Given the description of an element on the screen output the (x, y) to click on. 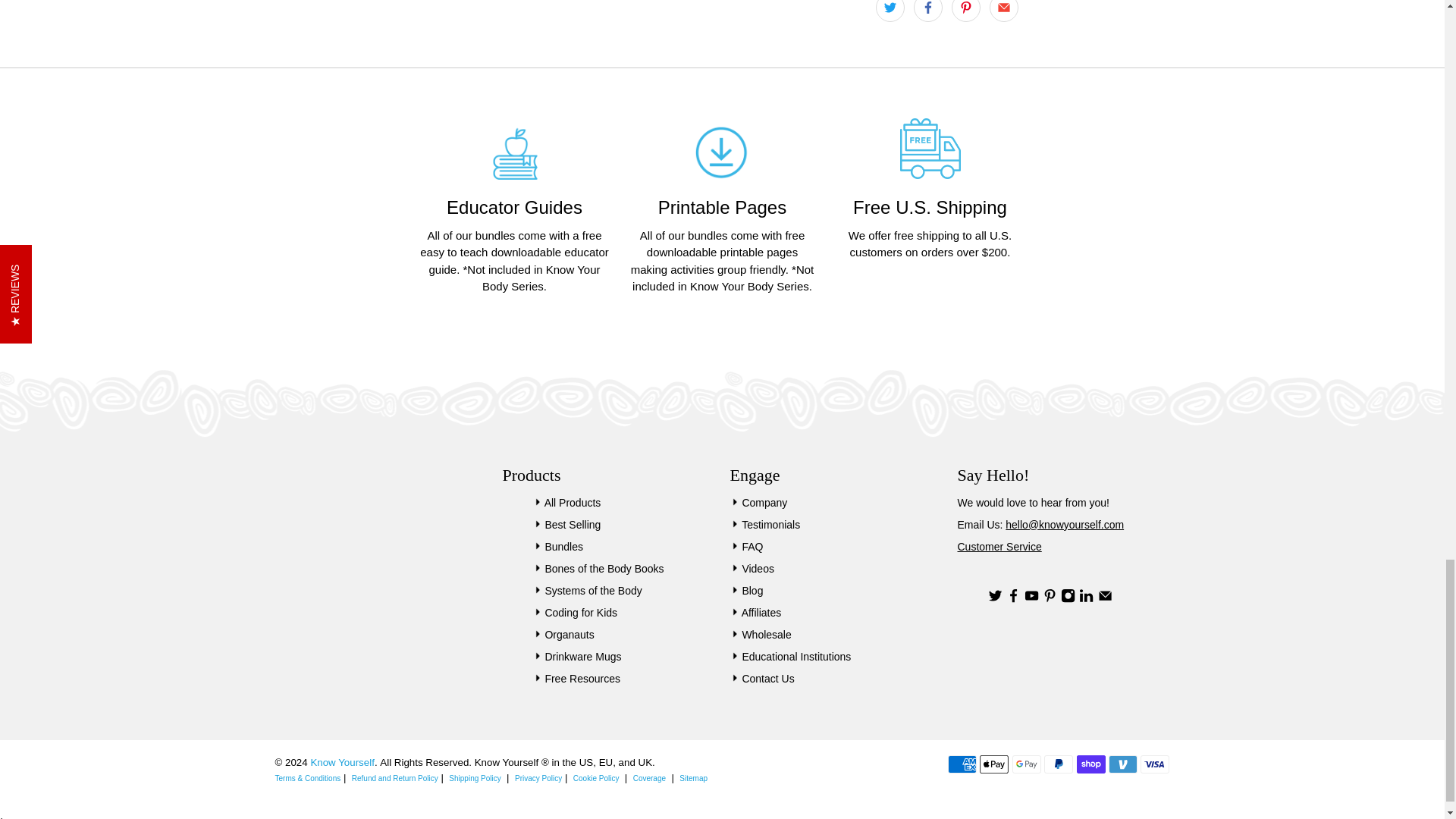
Google Pay (1026, 764)
Share this on Twitter (889, 11)
American Express (961, 764)
Know Yourself on YouTube (1032, 598)
Know Yourself on Instagram (1068, 598)
Know Yourself on Twitter (994, 598)
Know Yourself on Pinterest (1049, 598)
Email this to a friend (1002, 11)
Share this on Pinterest (964, 11)
Shop Pay (1091, 764)
Apple Pay (994, 764)
PayPal (1058, 764)
Know Yourself (338, 520)
Share this on Facebook (927, 11)
Know Yourself on Facebook (1013, 598)
